Given the description of an element on the screen output the (x, y) to click on. 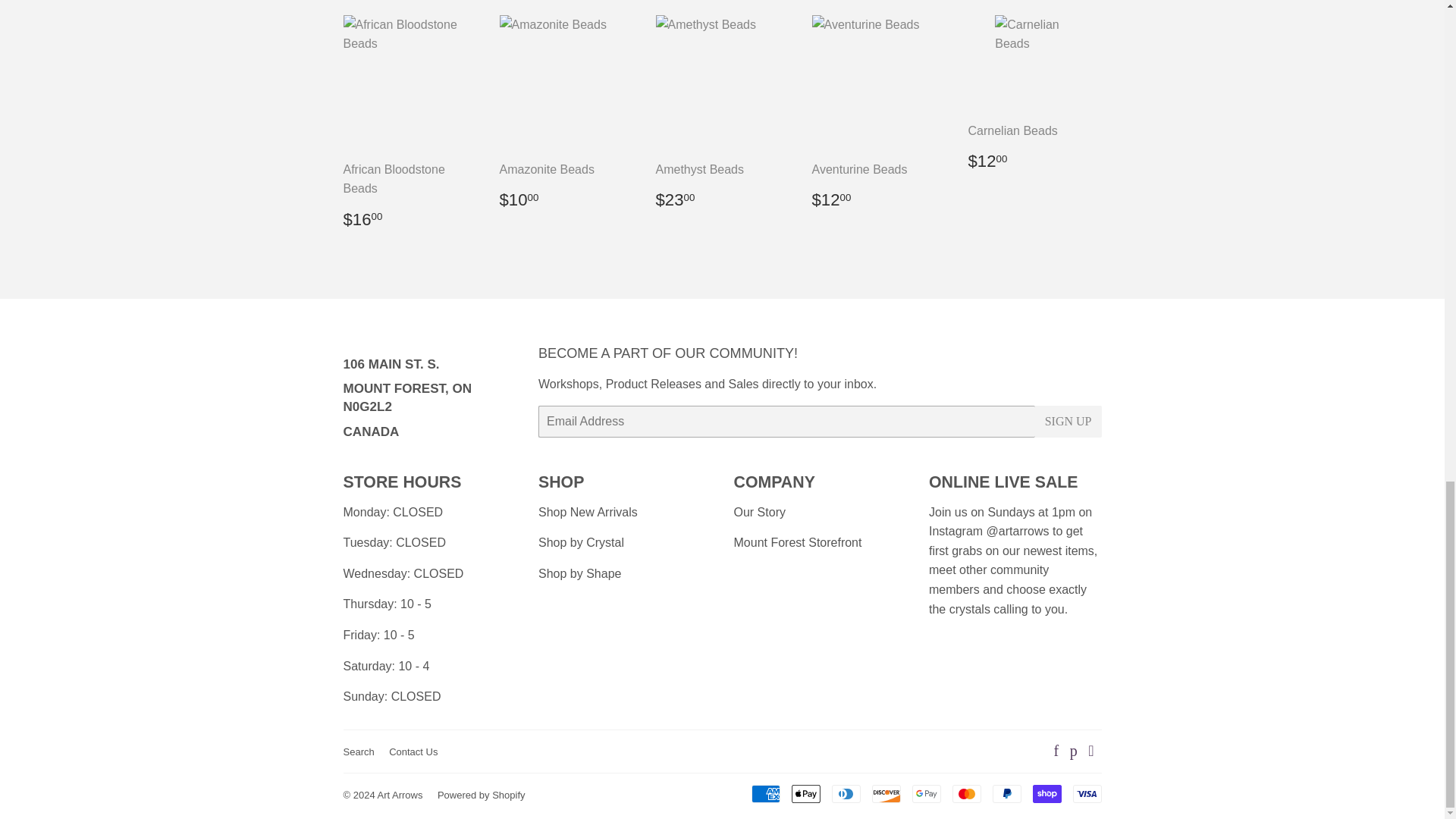
Discover (886, 793)
Apple Pay (806, 793)
Store Updates (797, 542)
Mastercard (966, 793)
Diners Club (845, 793)
Visa (1085, 793)
Shop Pay (1046, 793)
Shop By Crystal (581, 542)
Google Pay (925, 793)
Shop by Shape (579, 573)
NEW ARRIVALS (587, 512)
PayPal (1005, 793)
American Express (764, 793)
About Us (759, 512)
